Given the description of an element on the screen output the (x, y) to click on. 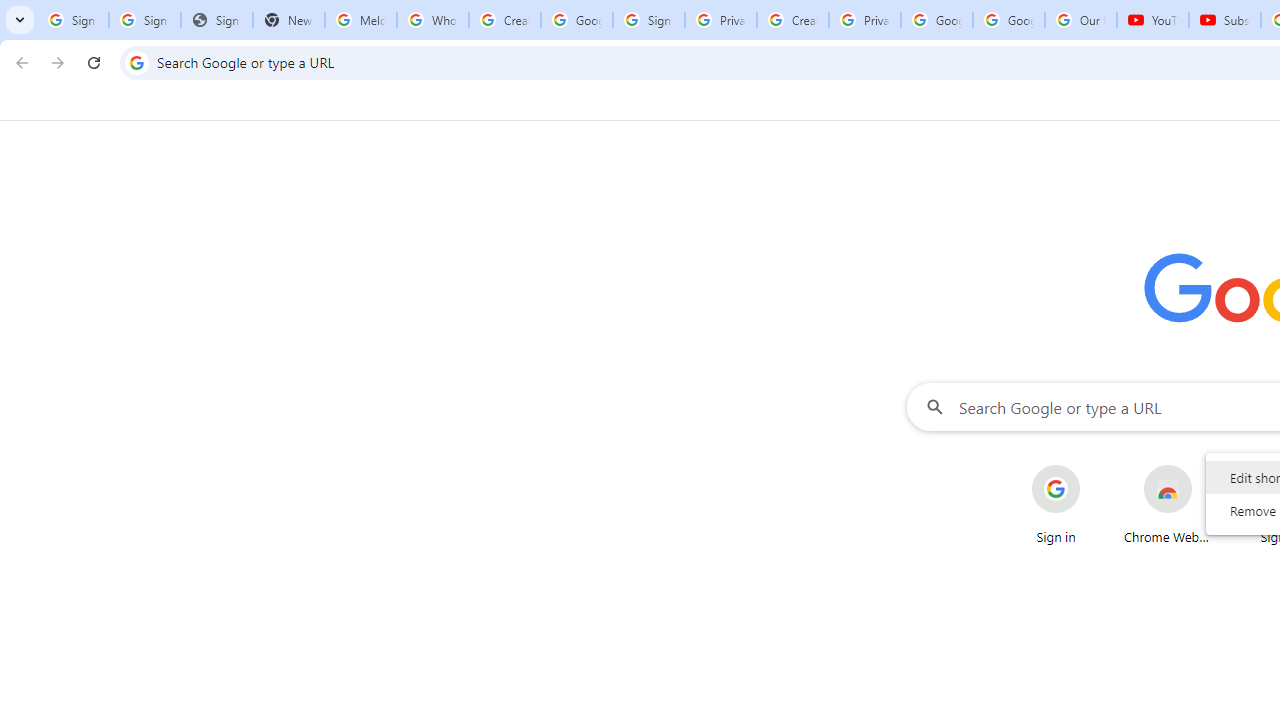
Create your Google Account (504, 20)
YouTube (1153, 20)
Sign in - Google Accounts (144, 20)
Who is my administrator? - Google Account Help (432, 20)
Subscriptions - YouTube (1224, 20)
Sign in - Google Accounts (648, 20)
